Given the description of an element on the screen output the (x, y) to click on. 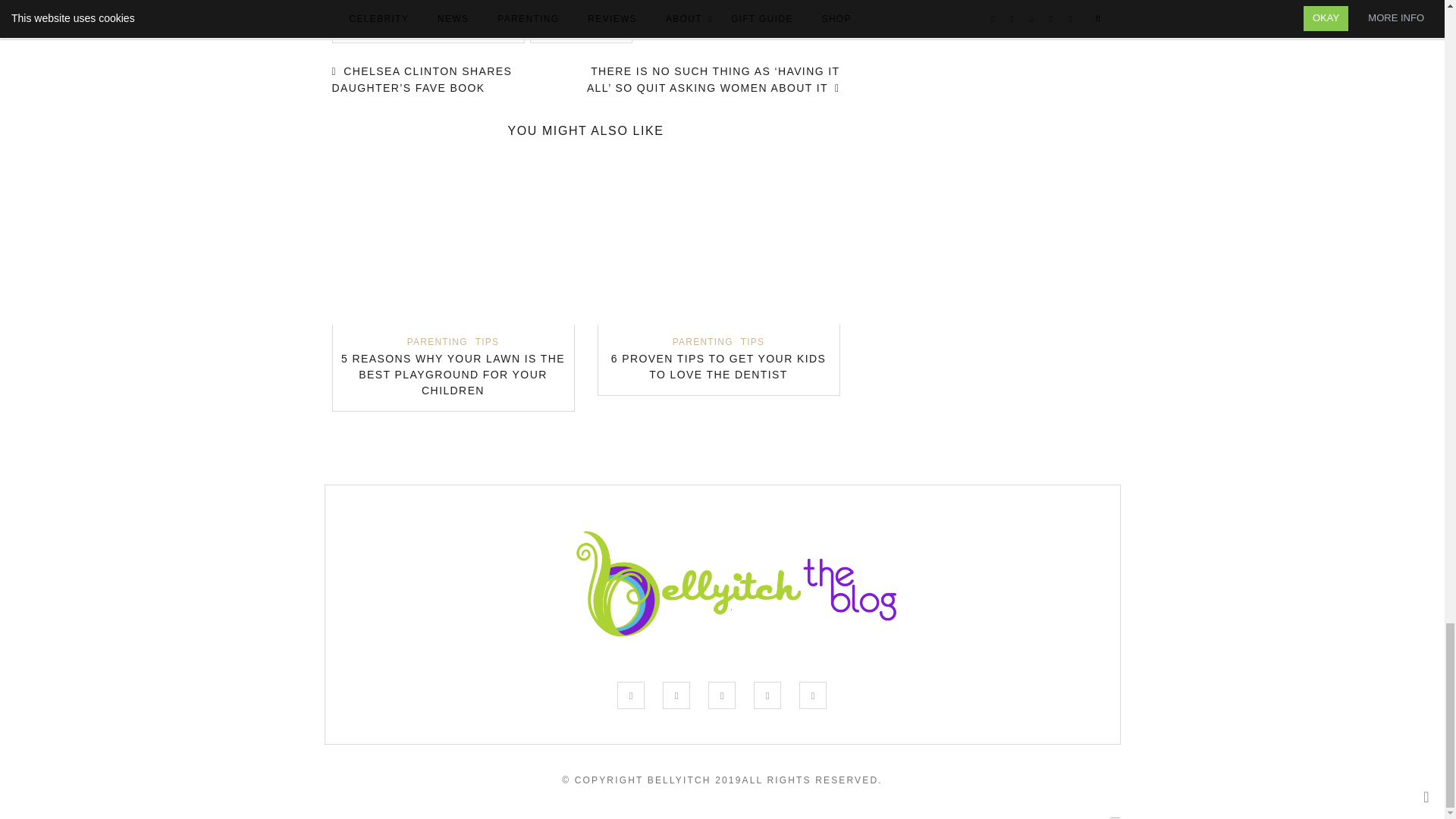
Facebook (631, 695)
AMERICAN ACADEMY OF PEDIATRIC (428, 31)
PARENTING (702, 341)
TIPS (487, 341)
Youtube (813, 695)
Pinterest (767, 695)
PARENTING (437, 341)
Instagram (721, 695)
Twitter (676, 695)
TECH OBSESSION (580, 31)
